Given the description of an element on the screen output the (x, y) to click on. 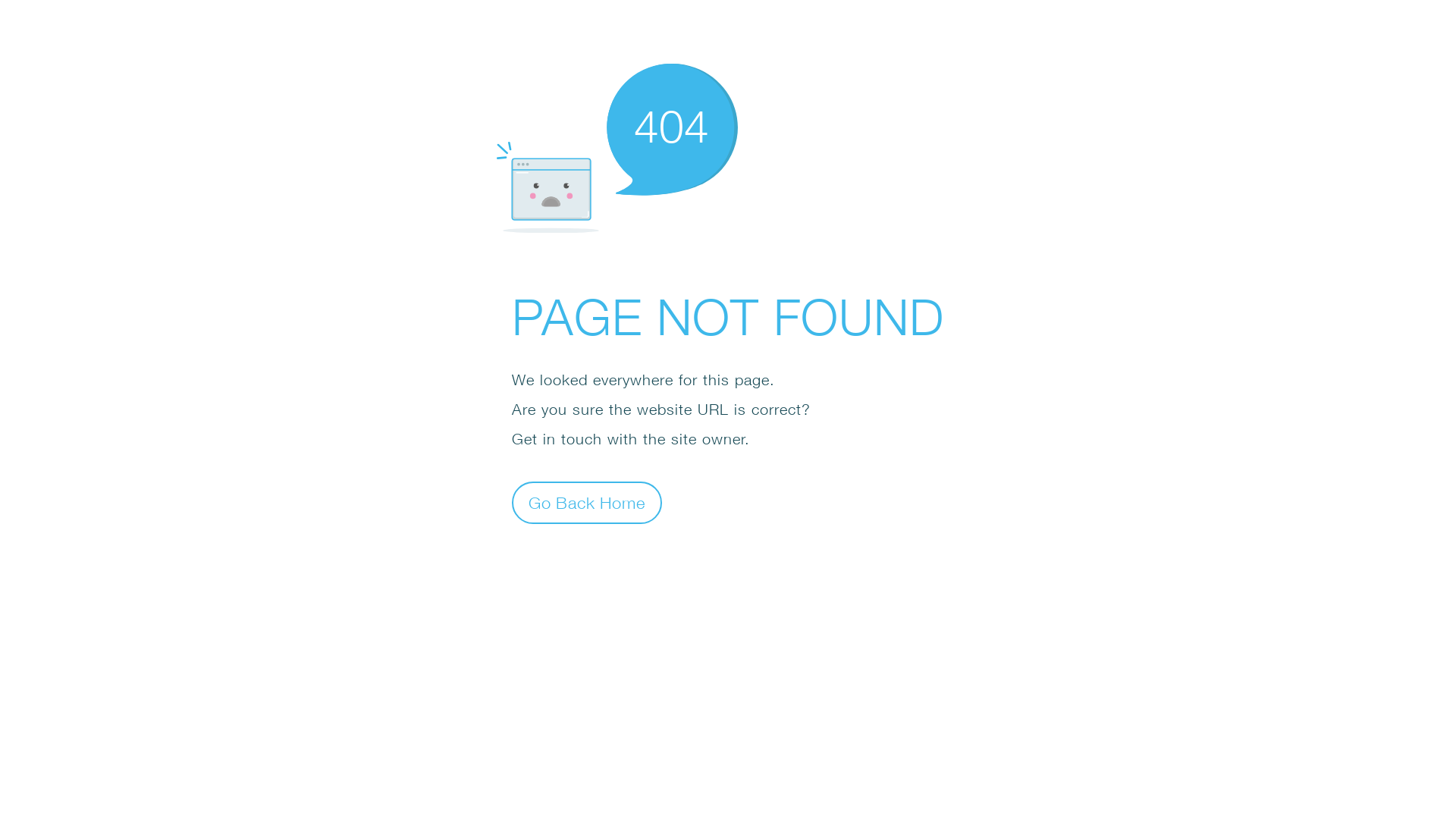
Go Back Home Element type: text (586, 502)
